Given the description of an element on the screen output the (x, y) to click on. 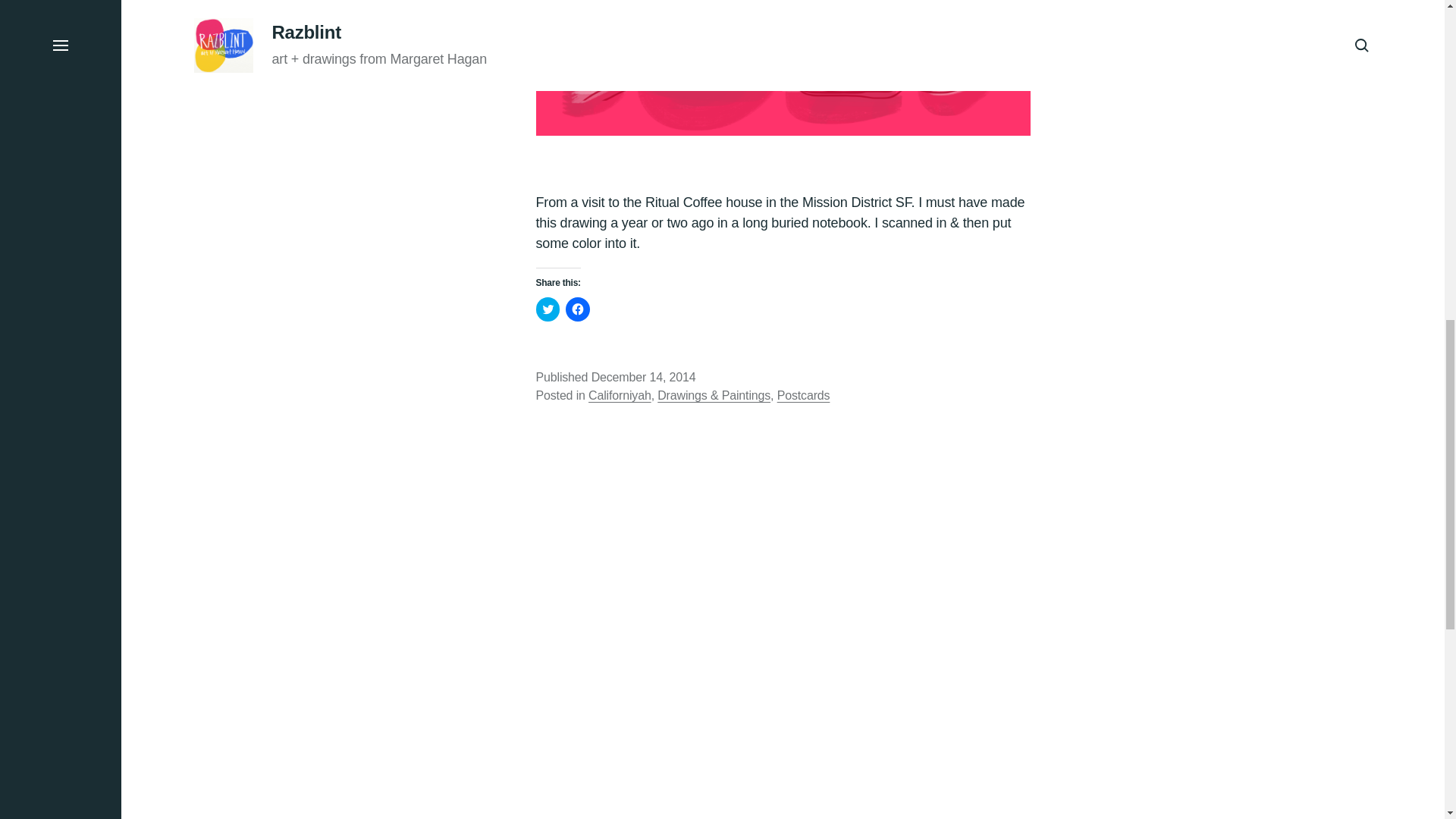
Californiyah (619, 396)
Postcards (803, 395)
Click to share on Facebook (577, 309)
December 14, 2014 (643, 378)
Click to share on Twitter (547, 309)
